Given the description of an element on the screen output the (x, y) to click on. 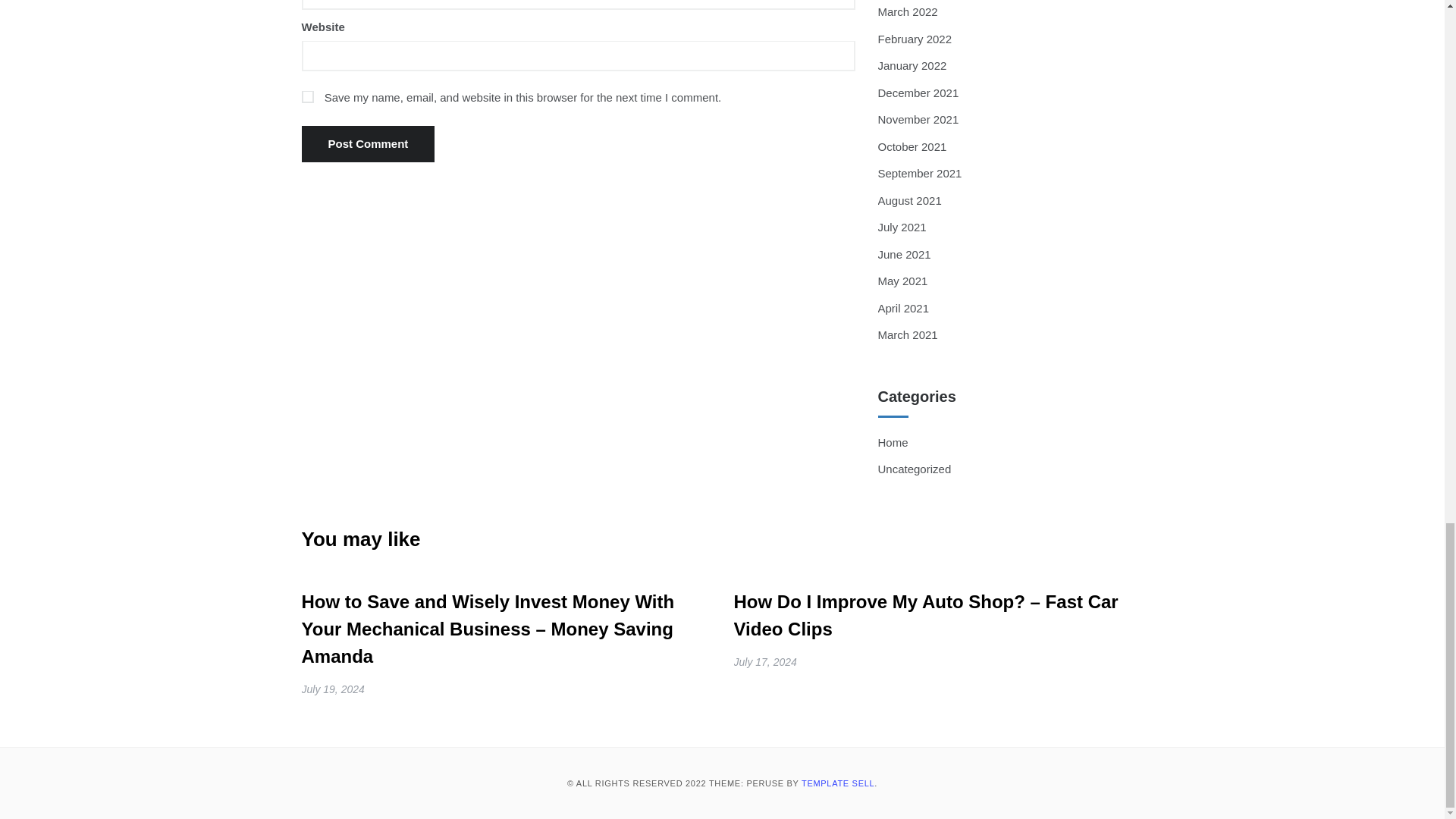
Post Comment (368, 144)
Post Comment (368, 144)
yes (307, 96)
